Given the description of an element on the screen output the (x, y) to click on. 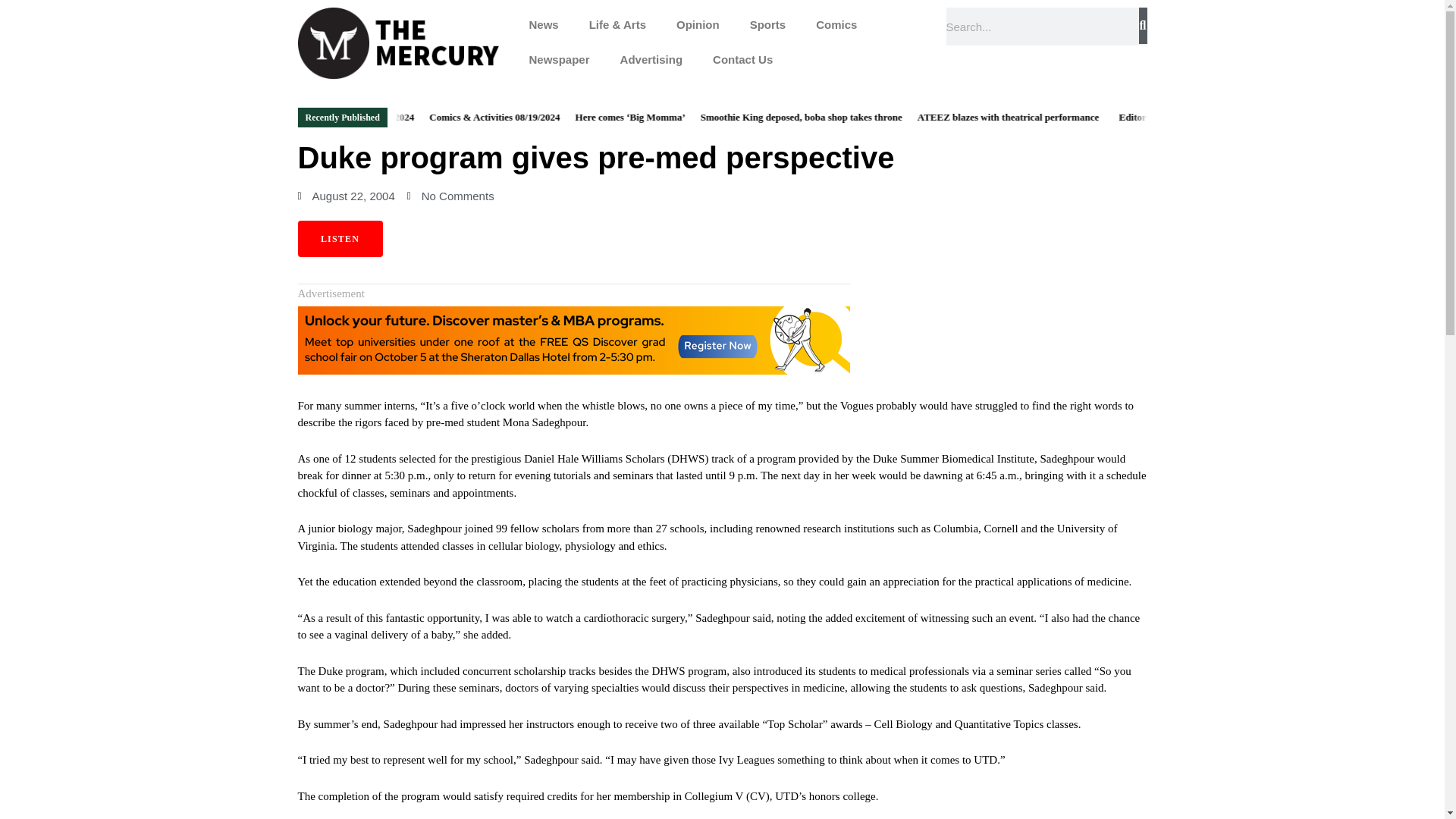
Newspaper (559, 59)
News (543, 24)
Issue 08 19 2024 (415, 116)
Smoothie King deposed, boba shop takes throne (835, 116)
Opinion (698, 24)
Contact Us (742, 59)
Comics (836, 24)
Text To Audio:  Tap to listen post. (339, 238)
Advertising (651, 59)
ATEEZ blazes with theatrical performance   (1045, 116)
